Given the description of an element on the screen output the (x, y) to click on. 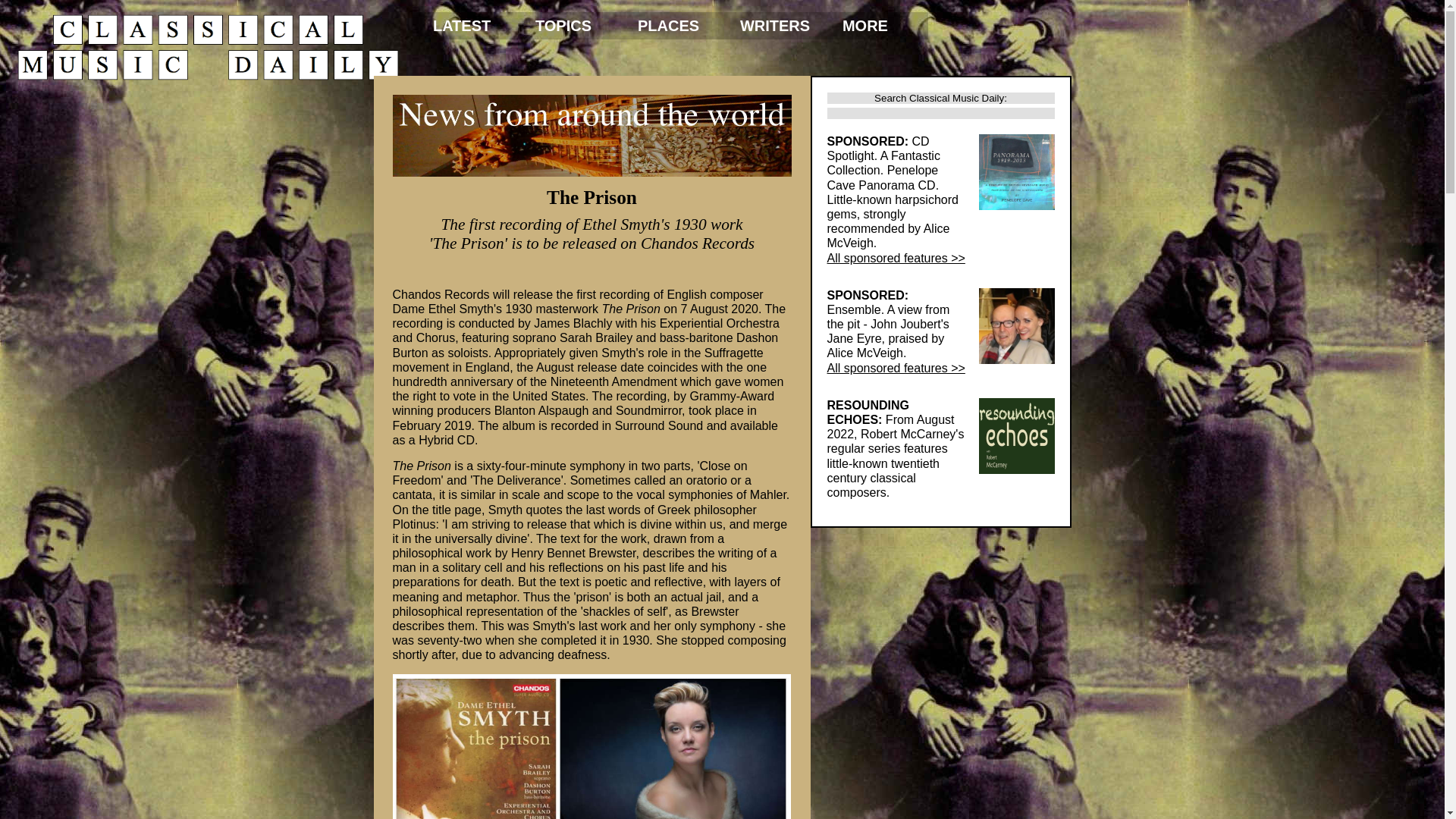
TOPICS (569, 25)
Classical Music Daily (207, 47)
Resounding Echoes, with Robert McCarney (1016, 436)
LATEST (467, 25)
PLACES (672, 25)
Search Classical Music Daily: (940, 98)
